Given the description of an element on the screen output the (x, y) to click on. 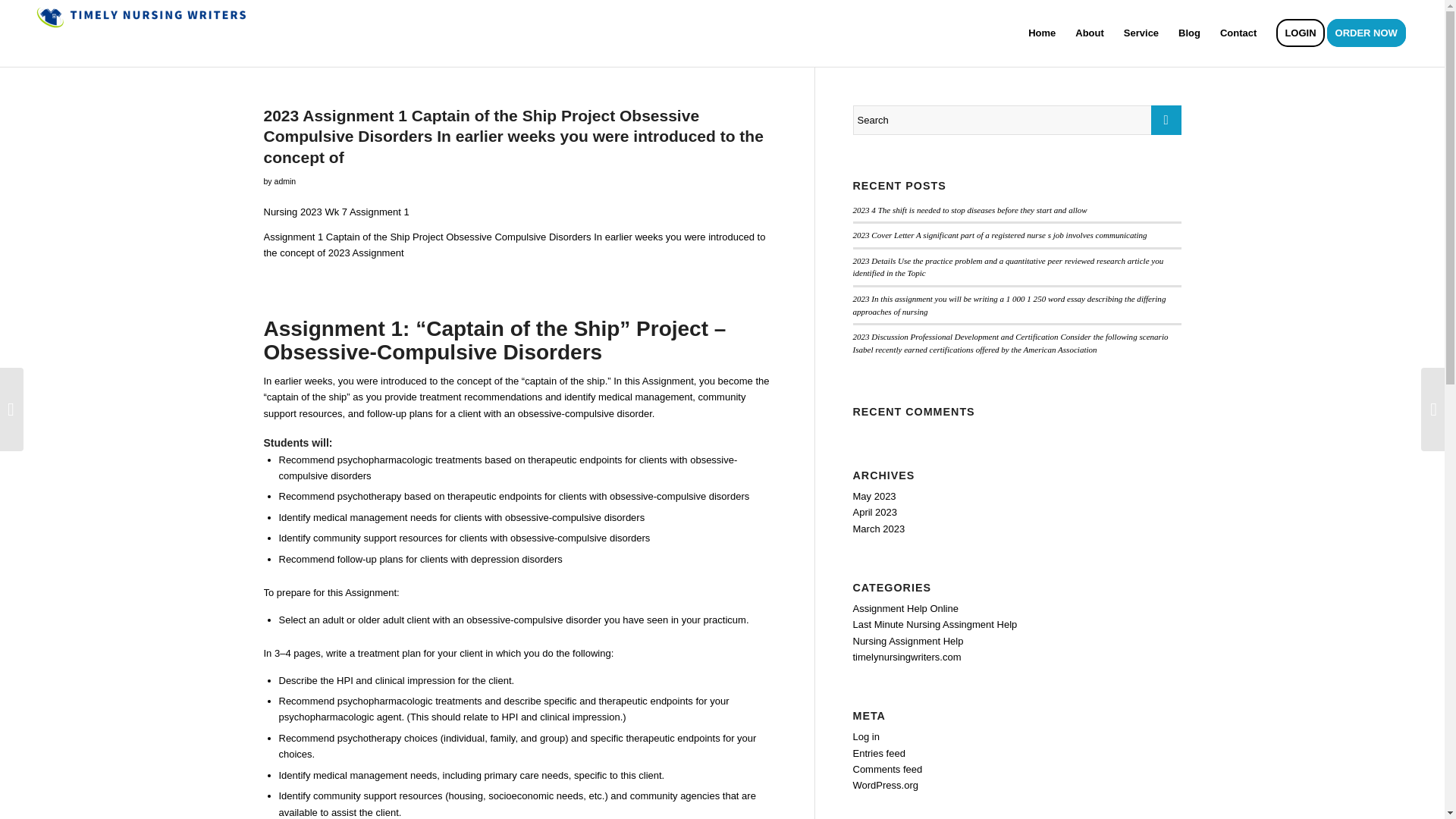
timelynursingwriters.com (905, 656)
May 2023 (873, 496)
Assignment Help Online (904, 608)
April 2023 (873, 511)
March 2023 (877, 528)
Nursing Assignment Help (906, 641)
LOGIN (1299, 33)
Posts by admin (286, 180)
Last Minute Nursing Assingment Help (933, 624)
ORDER NOW (1370, 33)
